Given the description of an element on the screen output the (x, y) to click on. 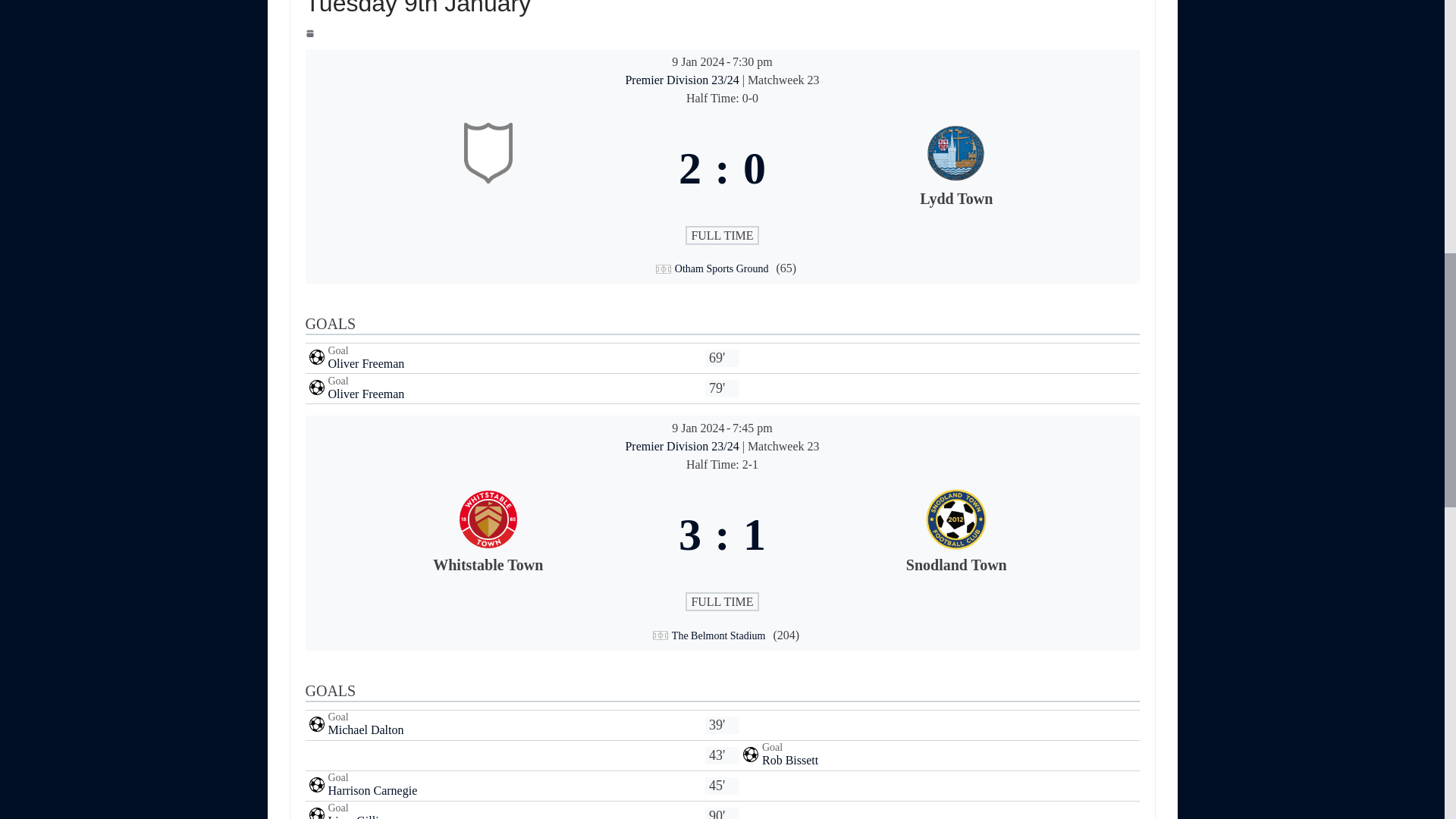
Michael Dalton (365, 729)
Oliver Freeman (365, 363)
3 : 1 (721, 534)
Otham Sports Ground (721, 268)
The Belmont Stadium (718, 635)
Oliver Freeman (365, 393)
2 : 0 (721, 168)
Liam Gillies (357, 816)
Harrison Carnegie (371, 789)
Rob Bissett (789, 759)
